Given the description of an element on the screen output the (x, y) to click on. 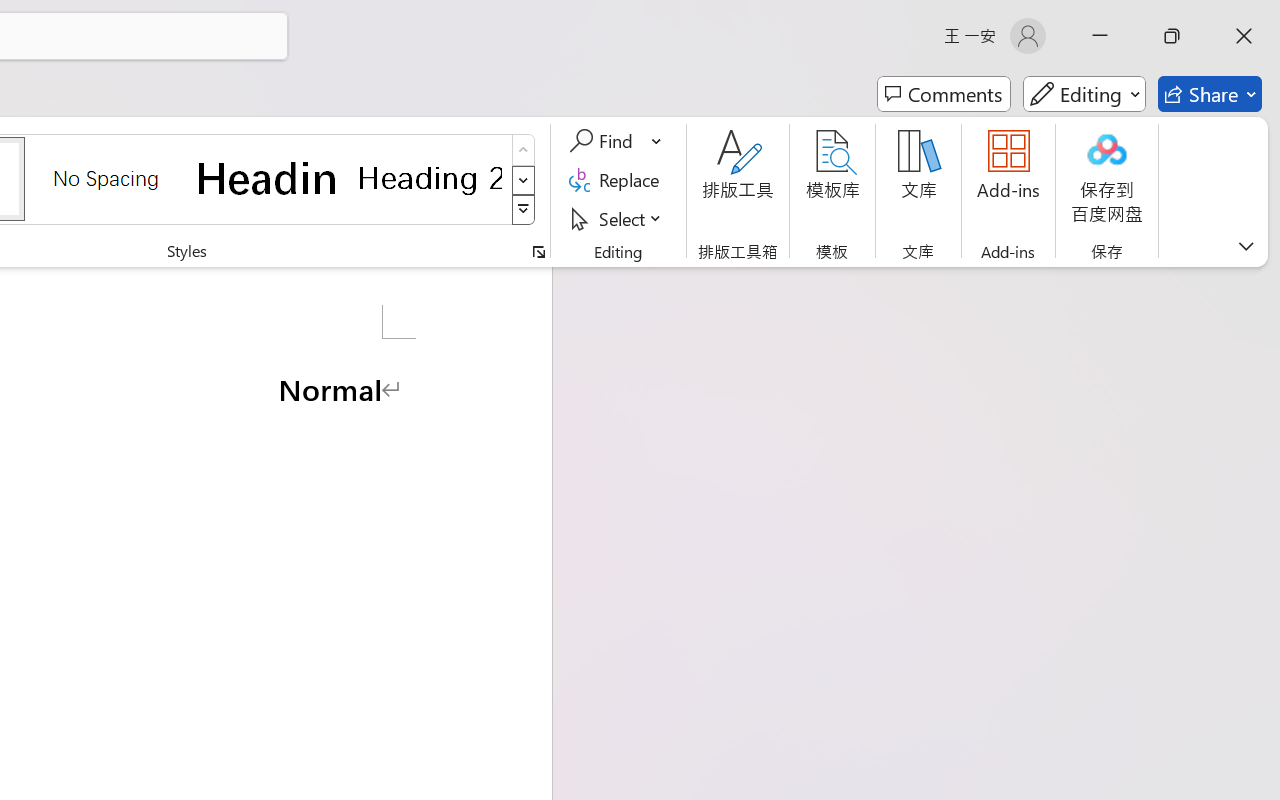
Row Down (523, 180)
Mode (1083, 94)
Styles... (538, 252)
Styles (523, 209)
Select (618, 218)
